Given the description of an element on the screen output the (x, y) to click on. 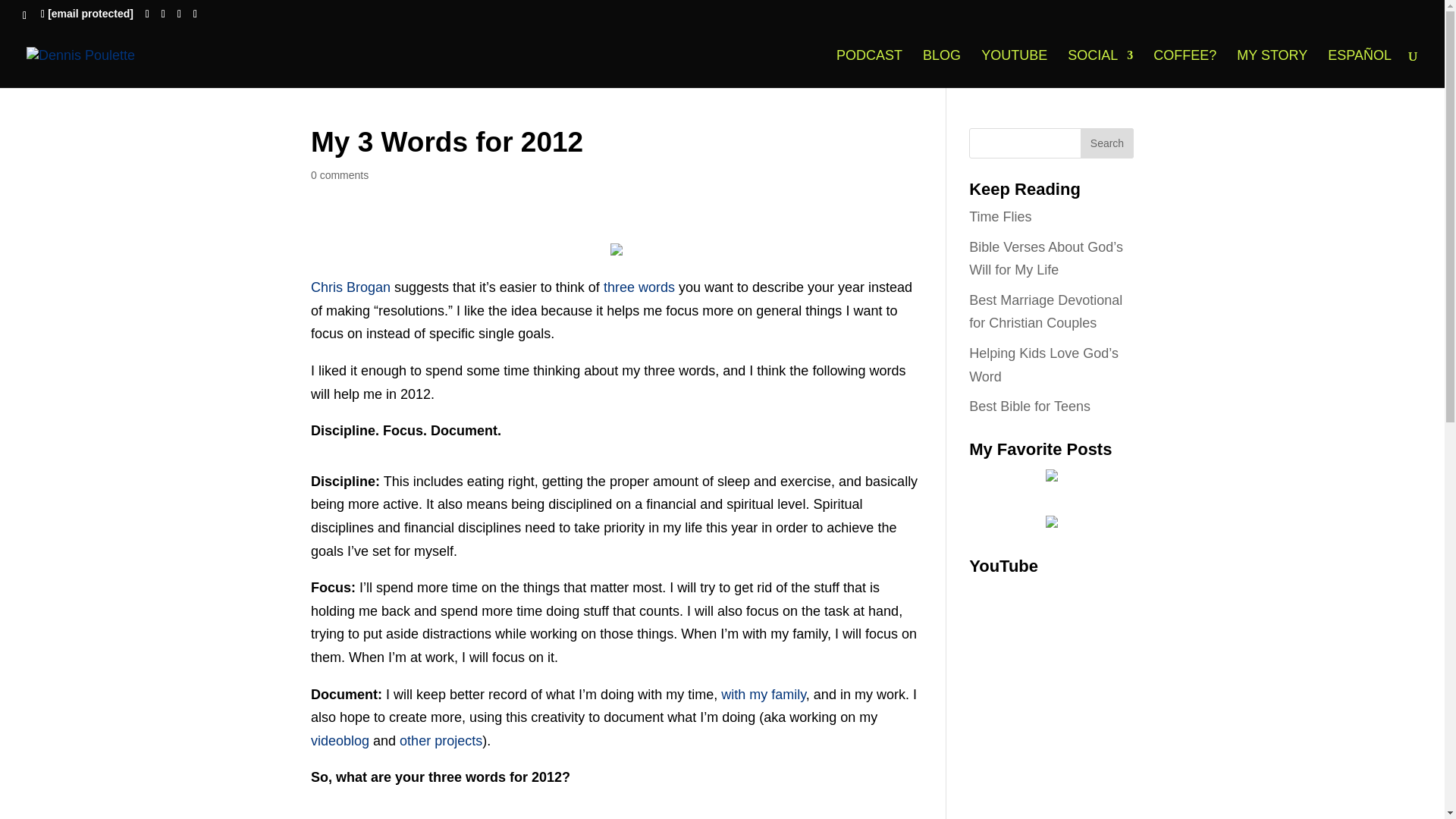
Search (1107, 142)
PODCAST (868, 68)
videoblog (340, 740)
Time Flies (999, 216)
0 comments (339, 174)
other projects (439, 740)
BLOG (941, 68)
Best Marriage Devotional for Christian Couples (1045, 311)
Search (1107, 142)
MY STORY (1271, 68)
